Given the description of an element on the screen output the (x, y) to click on. 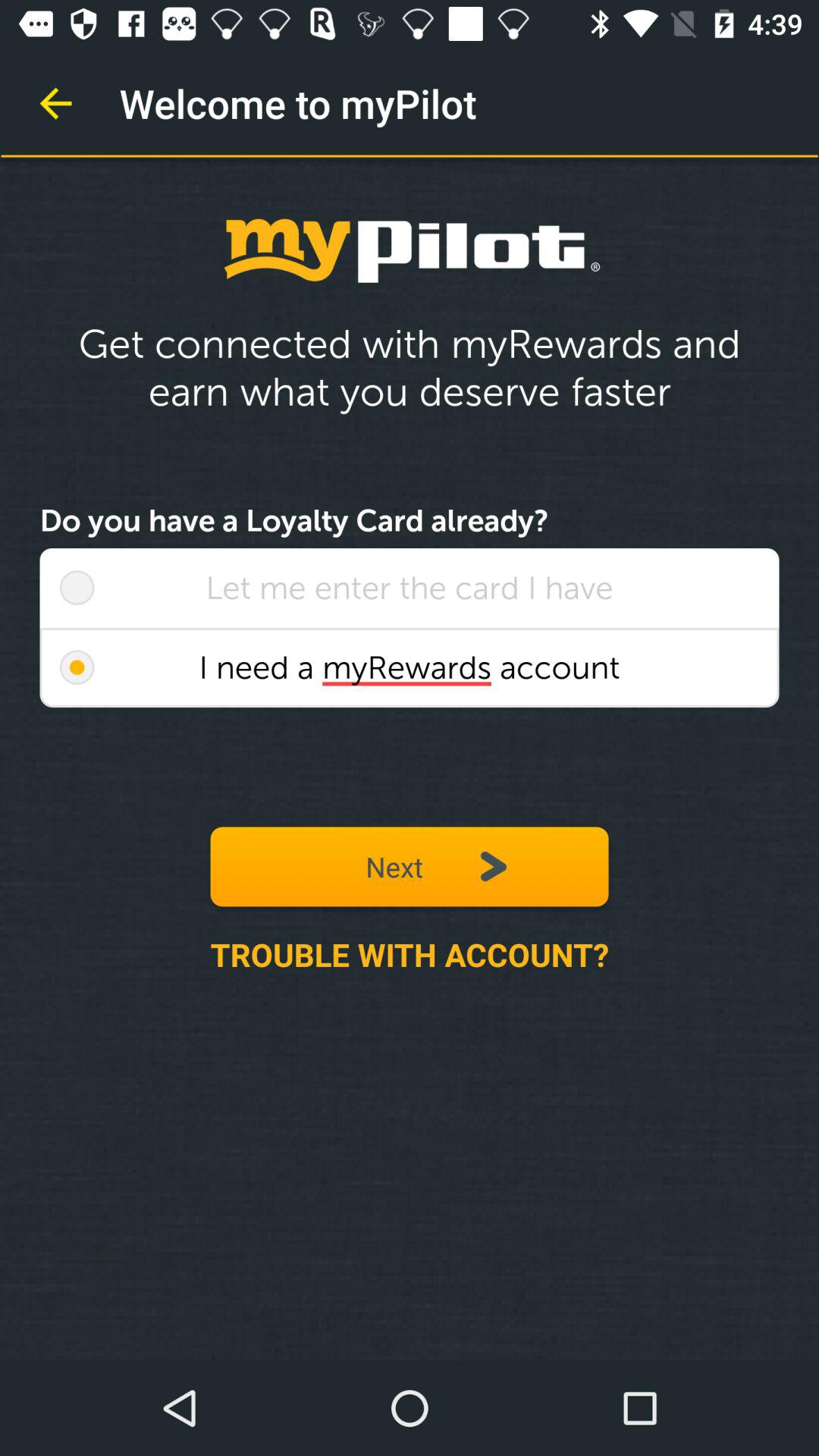
open the next item (409, 866)
